Given the description of an element on the screen output the (x, y) to click on. 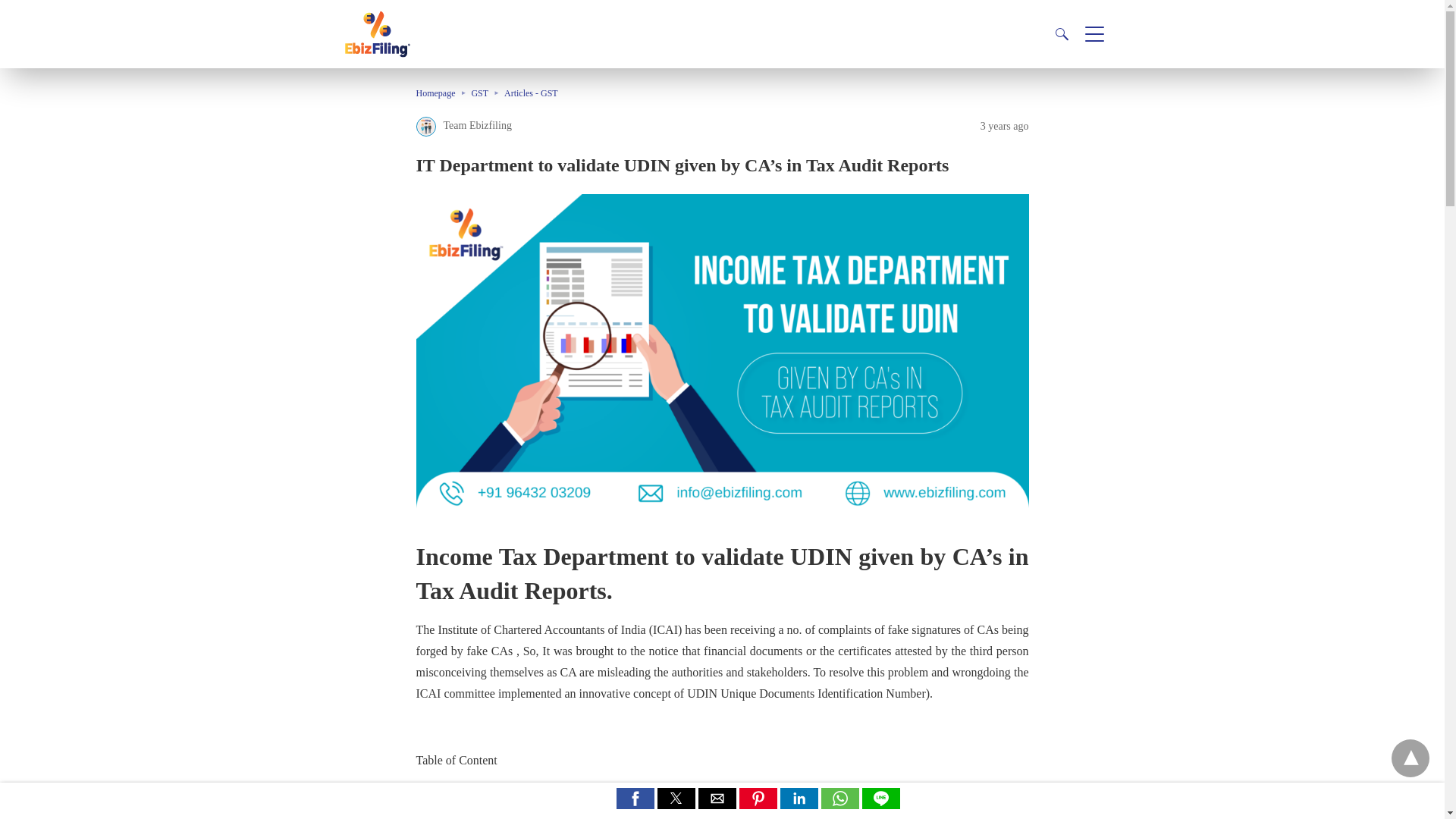
Ebizfiling (376, 52)
Homepage (442, 92)
Articles - GST (530, 92)
What is UDIN? (465, 793)
Documents where UDIN is mandatory (521, 813)
Homepage (442, 92)
GST (486, 92)
Documents where UDIN is mandatory (521, 813)
What is UDIN? (465, 793)
GST (486, 92)
Articles - GST (530, 92)
